Given the description of an element on the screen output the (x, y) to click on. 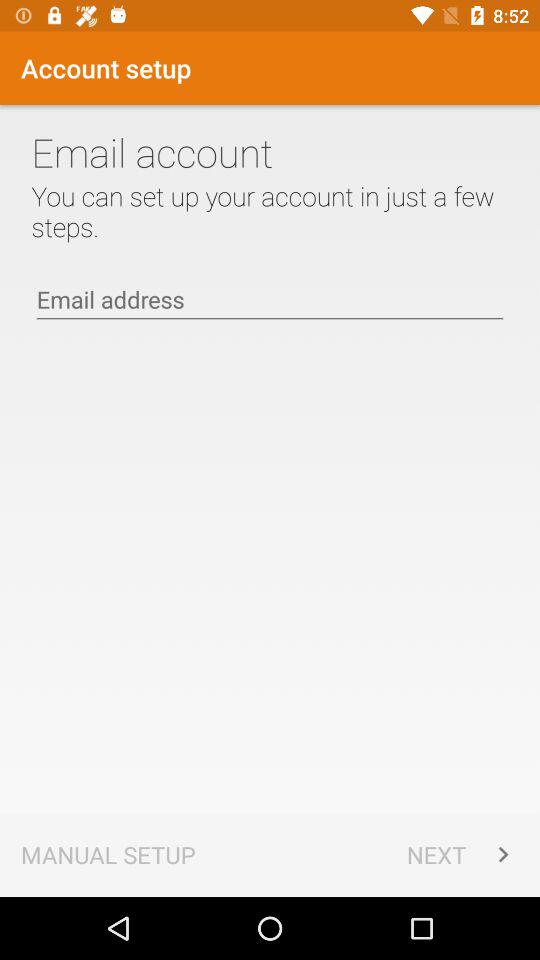
launch app to the right of manual setup icon (462, 854)
